Given the description of an element on the screen output the (x, y) to click on. 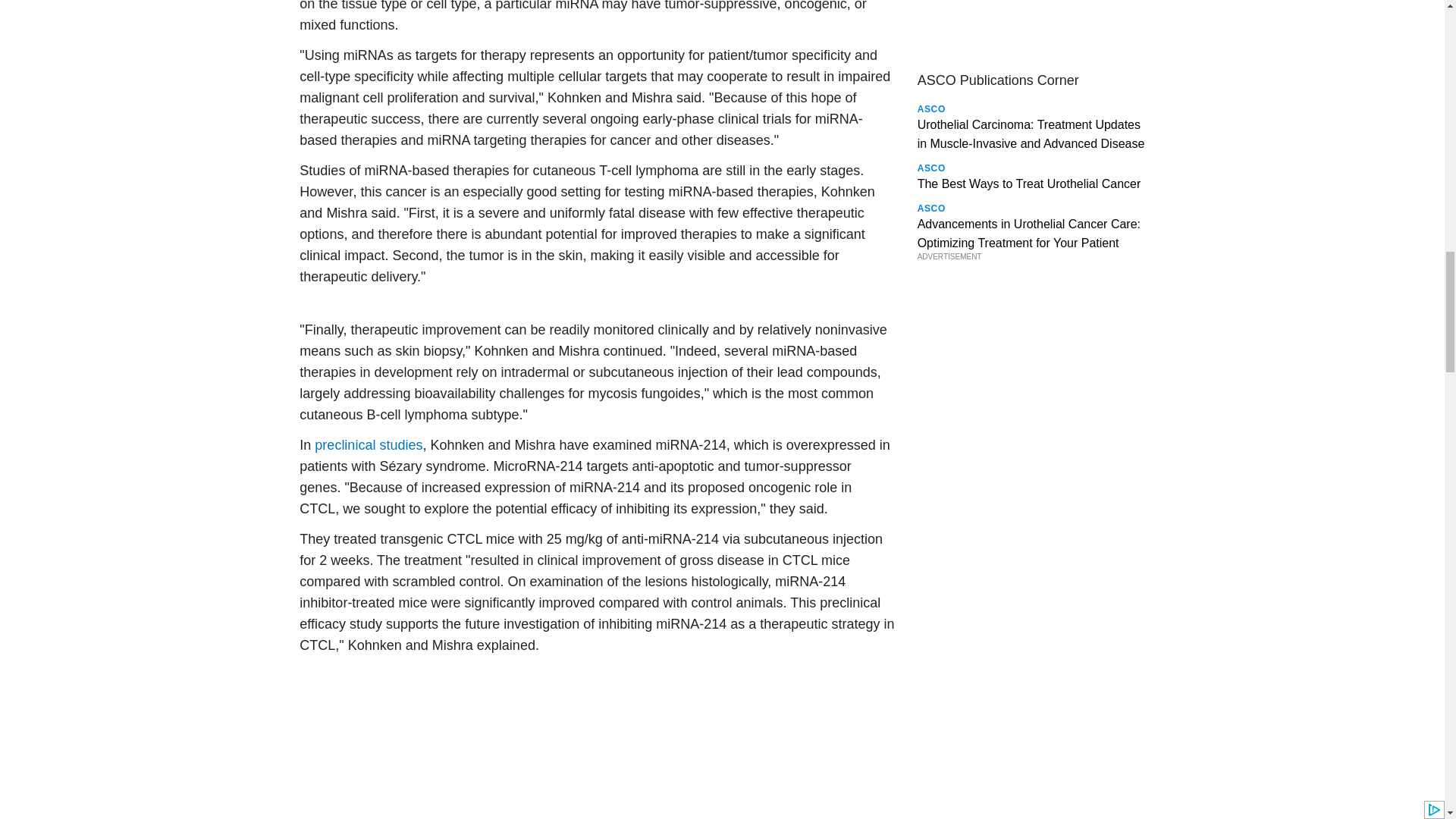
Opens in a new tab or window (368, 444)
